Given the description of an element on the screen output the (x, y) to click on. 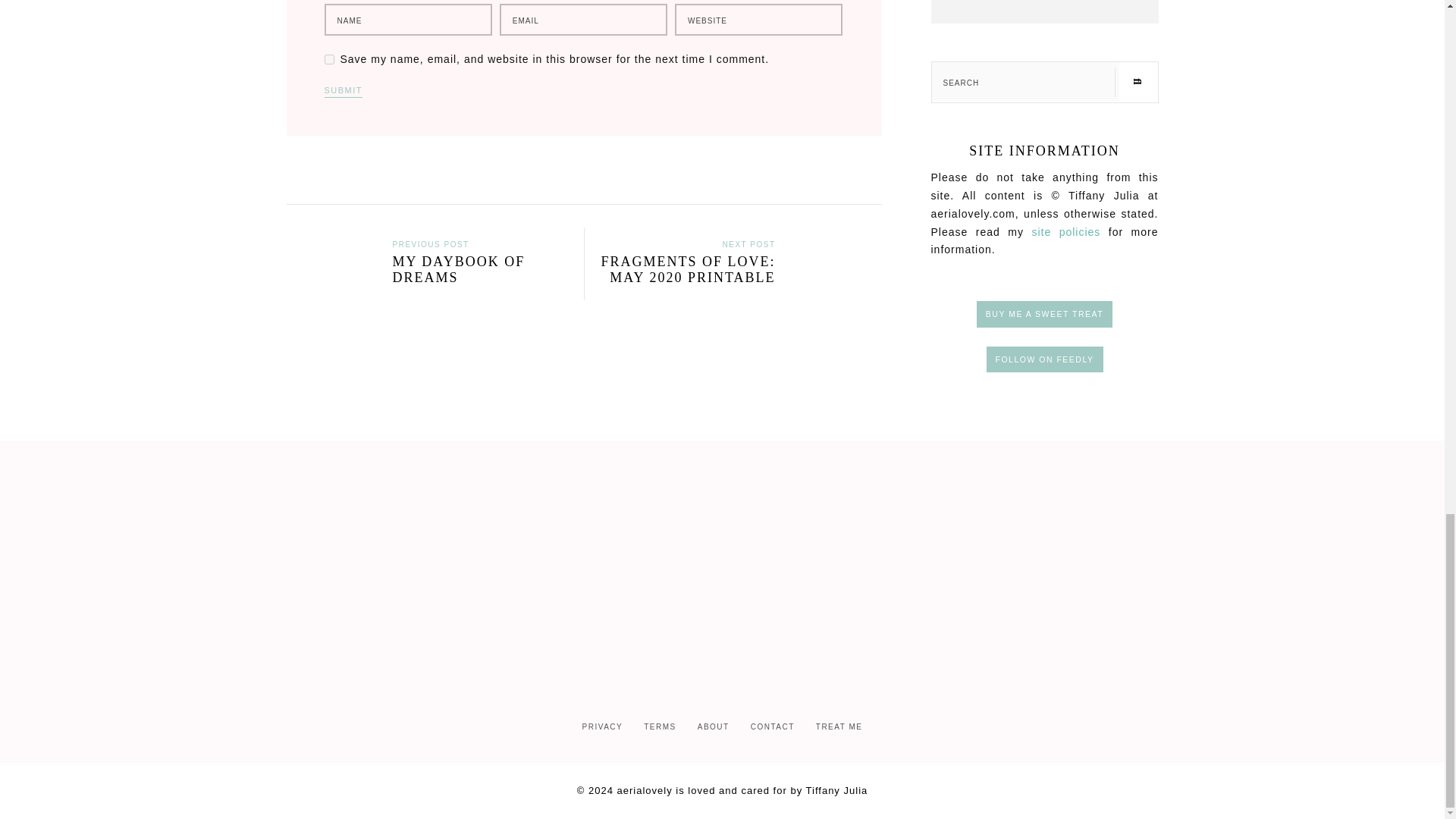
MY DAYBOOK OF DREAMS (427, 278)
terms of use (1065, 232)
Submit (343, 91)
NEXT POST (748, 243)
yes (329, 59)
FRAGMENTS OF LOVE: MAY 2020 PRINTABLE (739, 278)
Submit (343, 91)
PREVIOUS POST (430, 243)
